Given the description of an element on the screen output the (x, y) to click on. 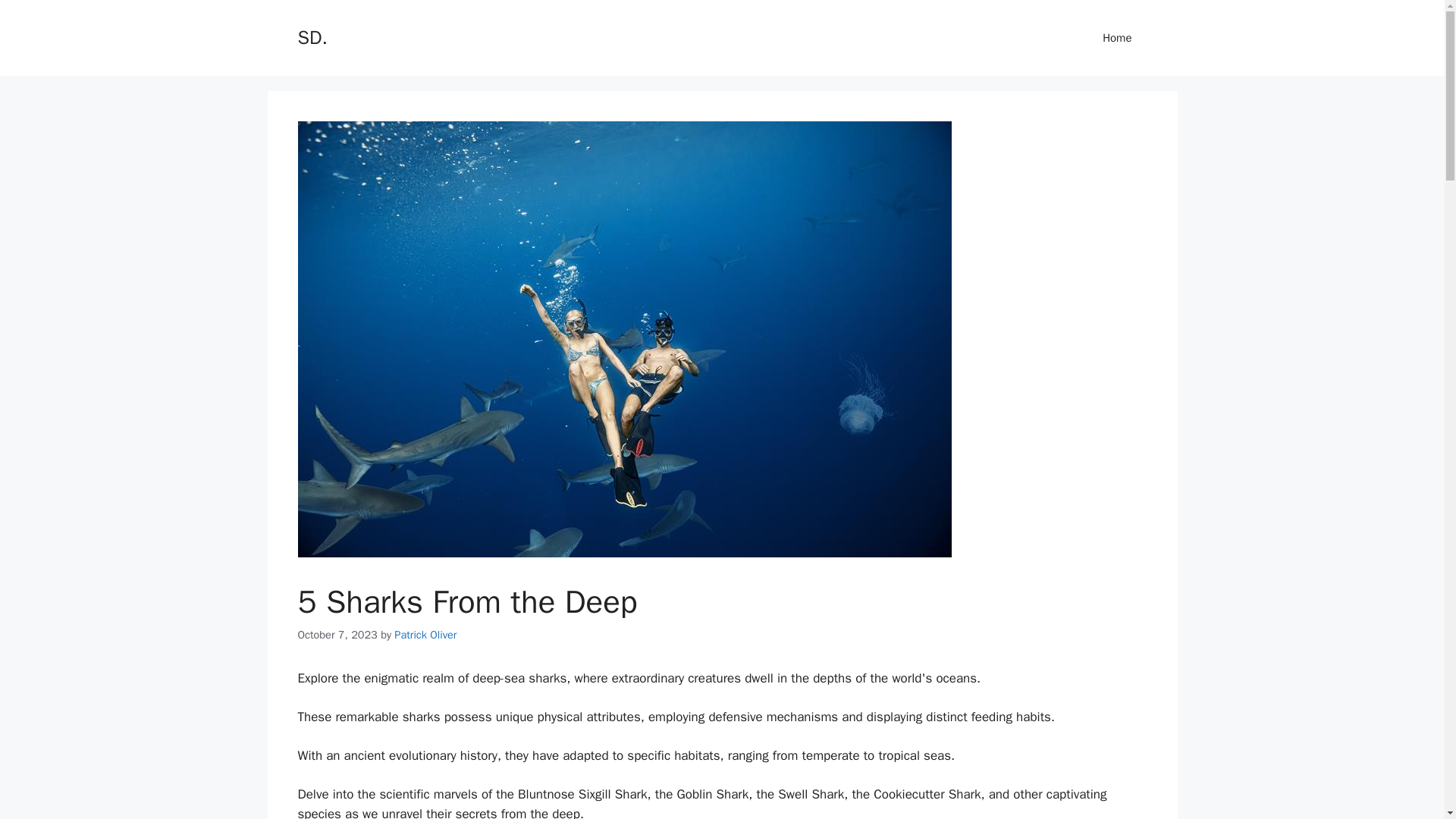
View all posts by Patrick Oliver (425, 634)
Home (1117, 37)
Patrick Oliver (425, 634)
SD. (311, 37)
